Given the description of an element on the screen output the (x, y) to click on. 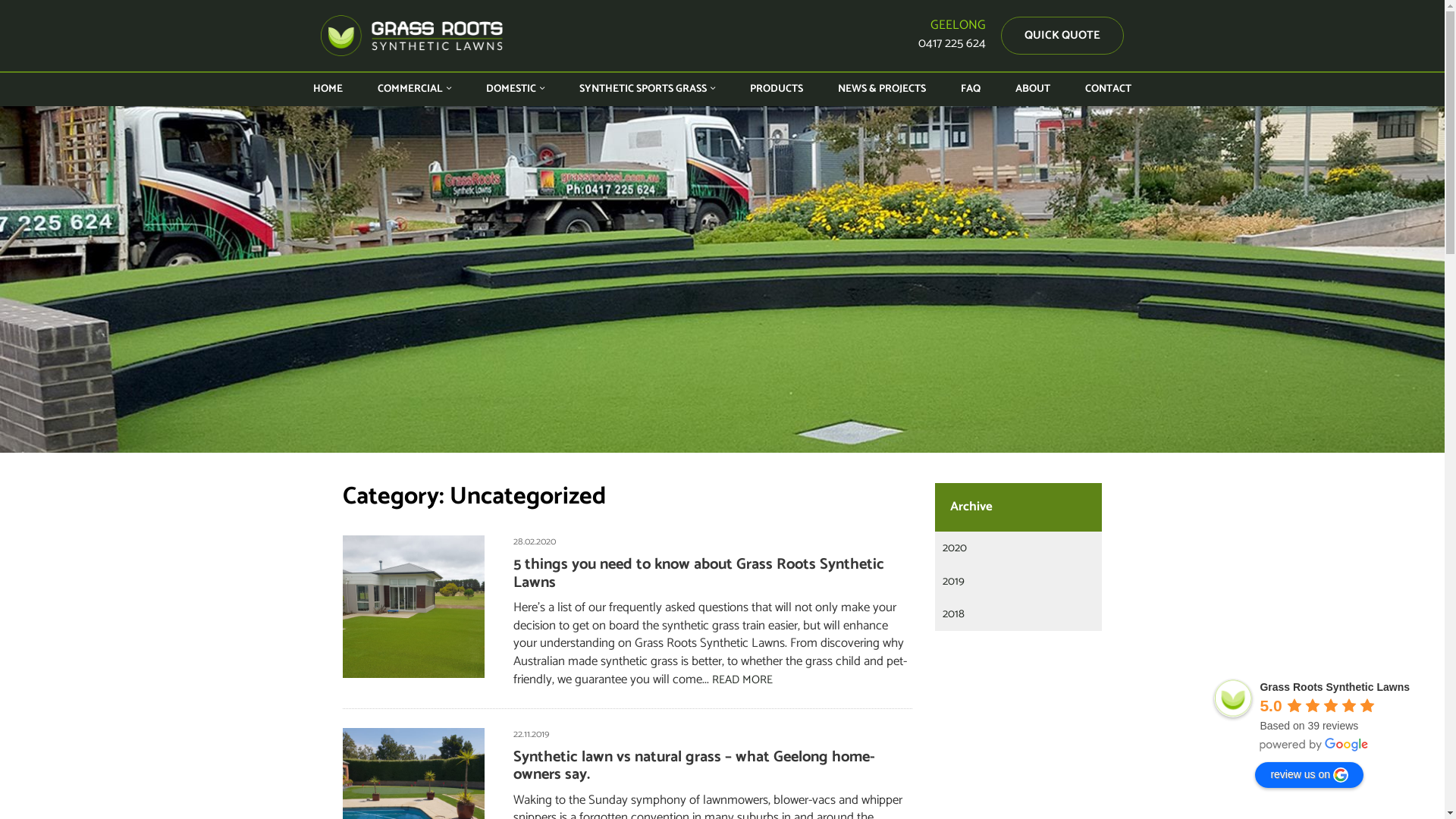
CONTACT Element type: text (1108, 89)
review us on Element type: text (1309, 774)
Grass Roots Synthetic Lawns Element type: text (1334, 686)
QUICK QUOTE Element type: text (1062, 34)
SYNTHETIC SPORTS GRASS Element type: text (647, 89)
FAQ Element type: text (970, 89)
ABOUT Element type: text (1032, 89)
powered by Google Element type: hover (1313, 744)
DOMESTIC Element type: text (515, 89)
5 things you need to know about Grass Roots Synthetic Lawns Element type: text (698, 573)
0417 225 624 Element type: text (951, 42)
HOME Element type: text (327, 89)
READ MORE Element type: text (742, 679)
NEWS & PROJECTS Element type: text (881, 89)
PRODUCTS Element type: text (776, 89)
Grass Roots Synthetic Lawns News & Projects Element type: hover (722, 279)
COMMERCIAL Element type: text (414, 89)
Grass Roots Synthetic Lawns Element type: hover (411, 35)
2019 Element type: text (953, 580)
2018 Element type: text (953, 613)
2020 Element type: text (954, 547)
Grass Roots Synthetic Lawns Element type: hover (1233, 698)
